Given the description of an element on the screen output the (x, y) to click on. 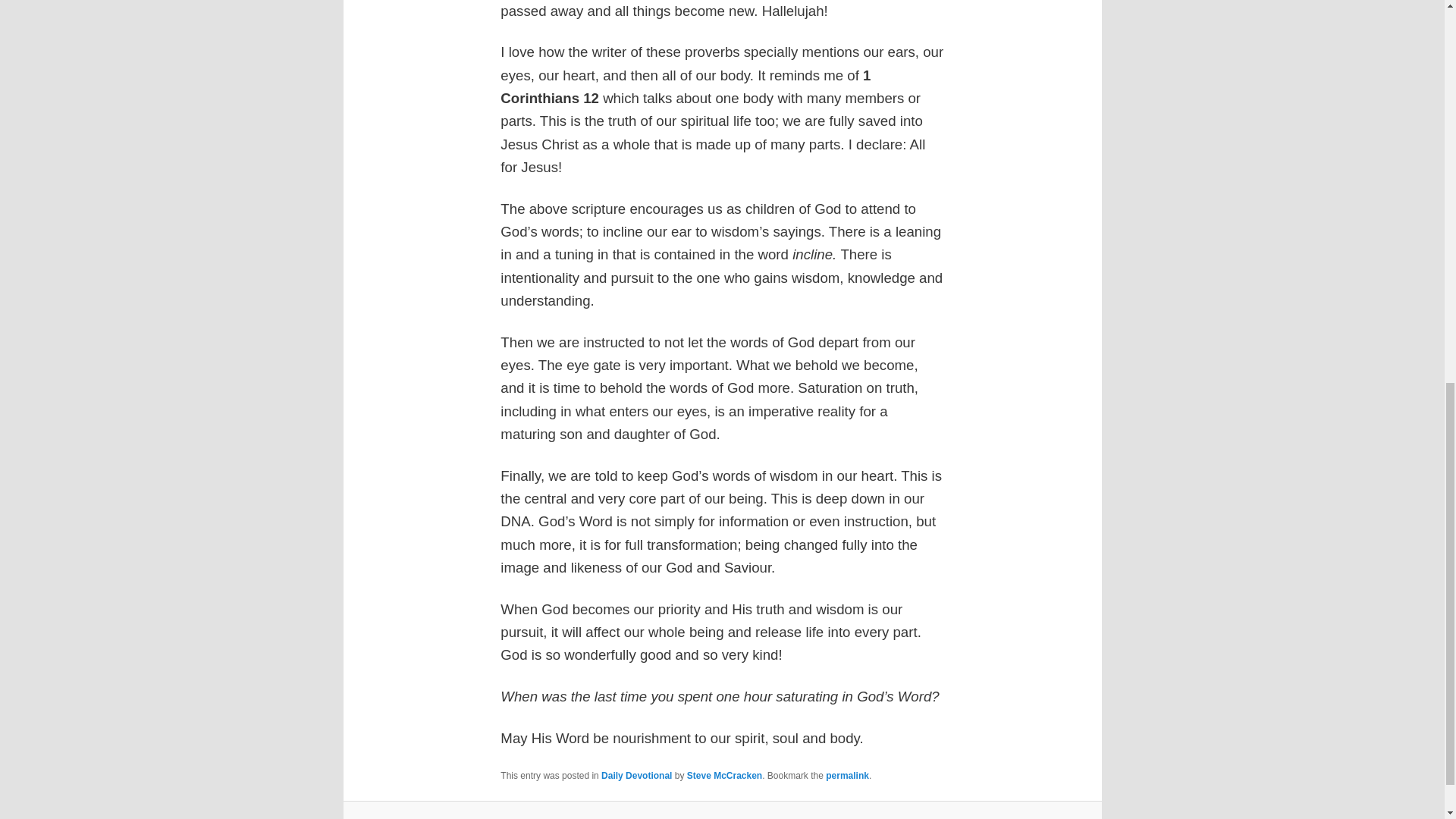
Daily Devotional (636, 775)
Steve McCracken (724, 775)
permalink (847, 775)
